Given the description of an element on the screen output the (x, y) to click on. 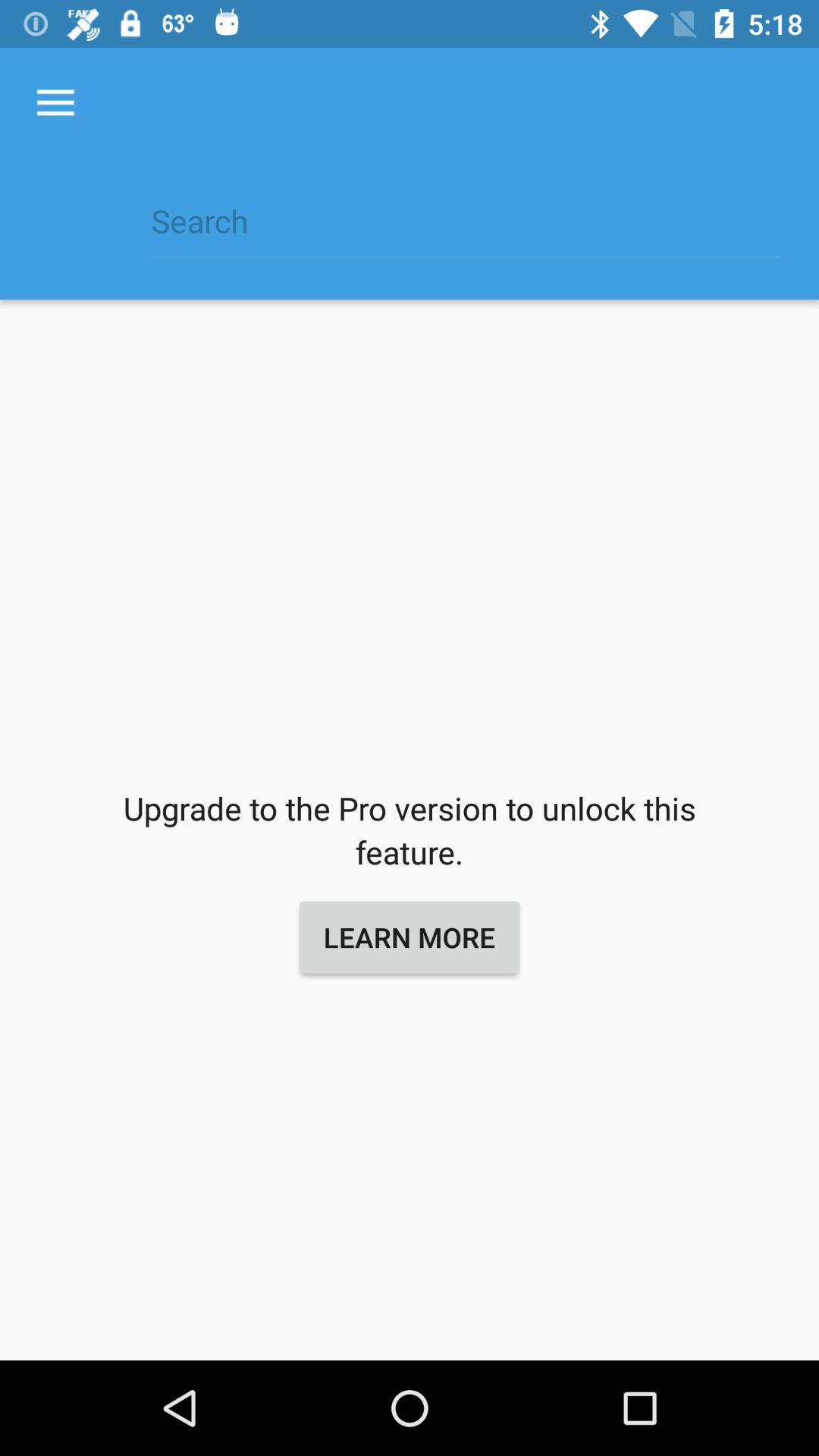
turn off icon above the upgrade to the (55, 103)
